Given the description of an element on the screen output the (x, y) to click on. 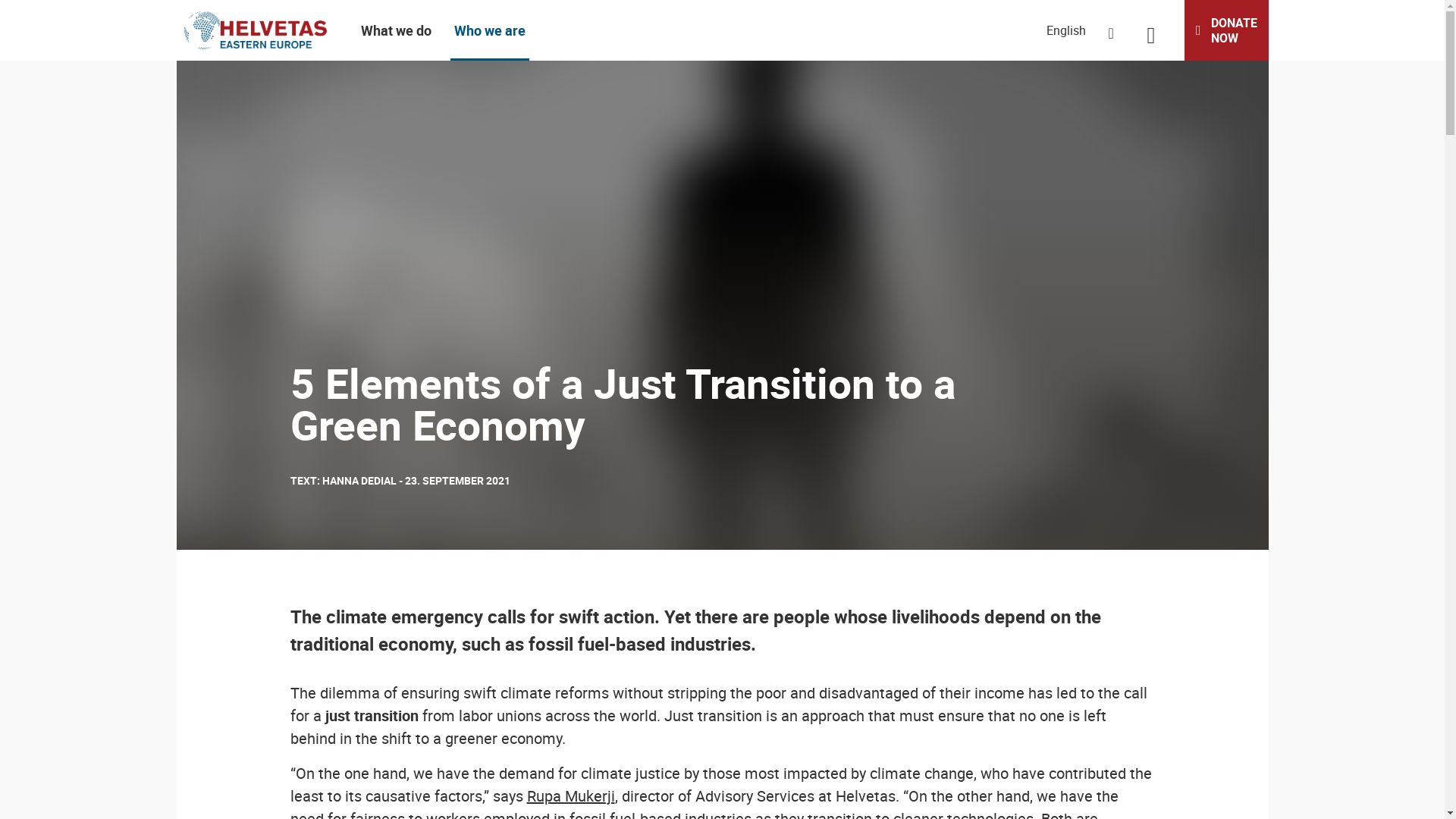
What we do (395, 30)
Who we are (489, 30)
